Given the description of an element on the screen output the (x, y) to click on. 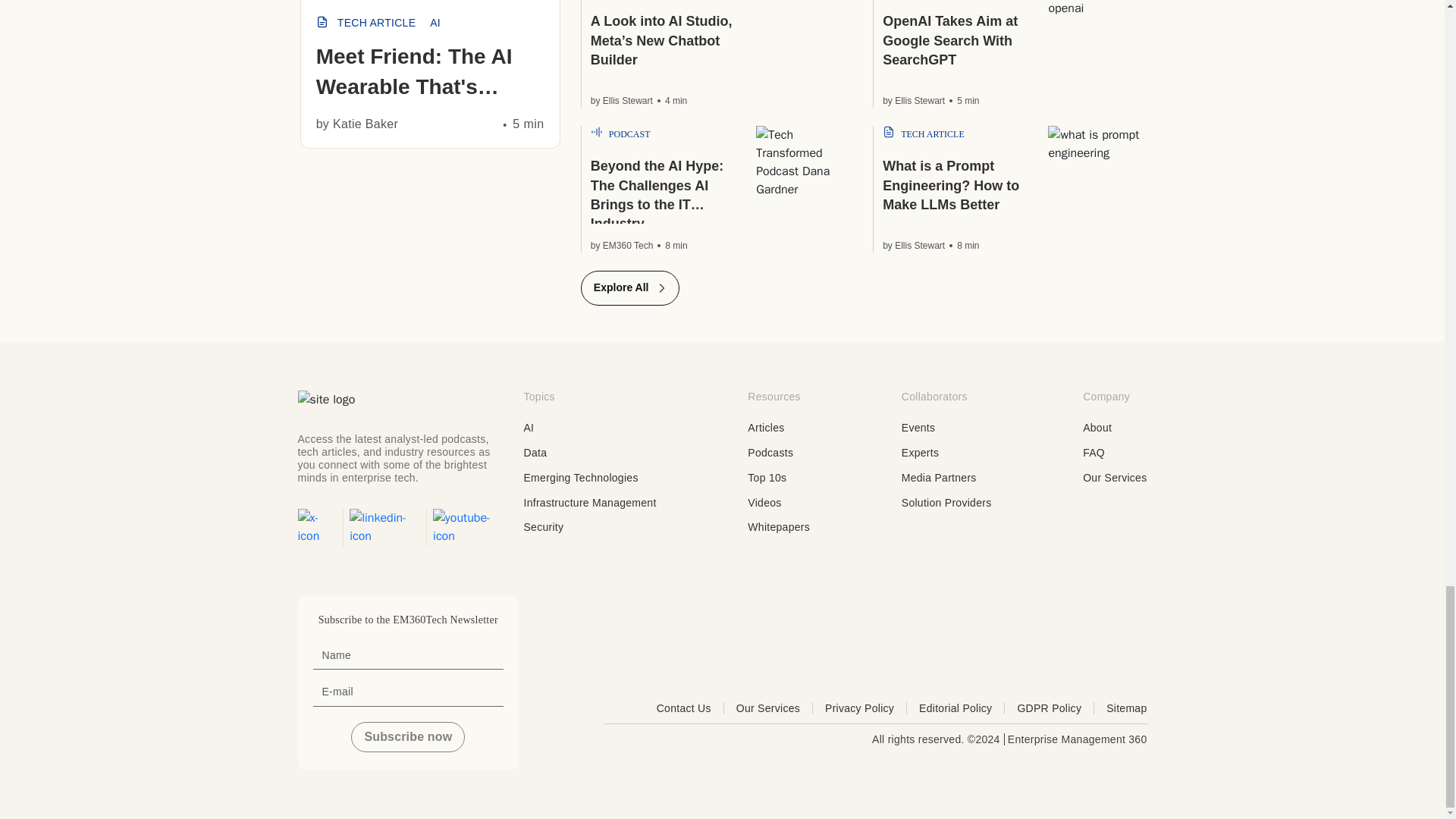
GDPR Policy (1055, 707)
Subscribe now (407, 736)
Privacy Policy (866, 707)
Sitemap (1126, 707)
